Given the description of an element on the screen output the (x, y) to click on. 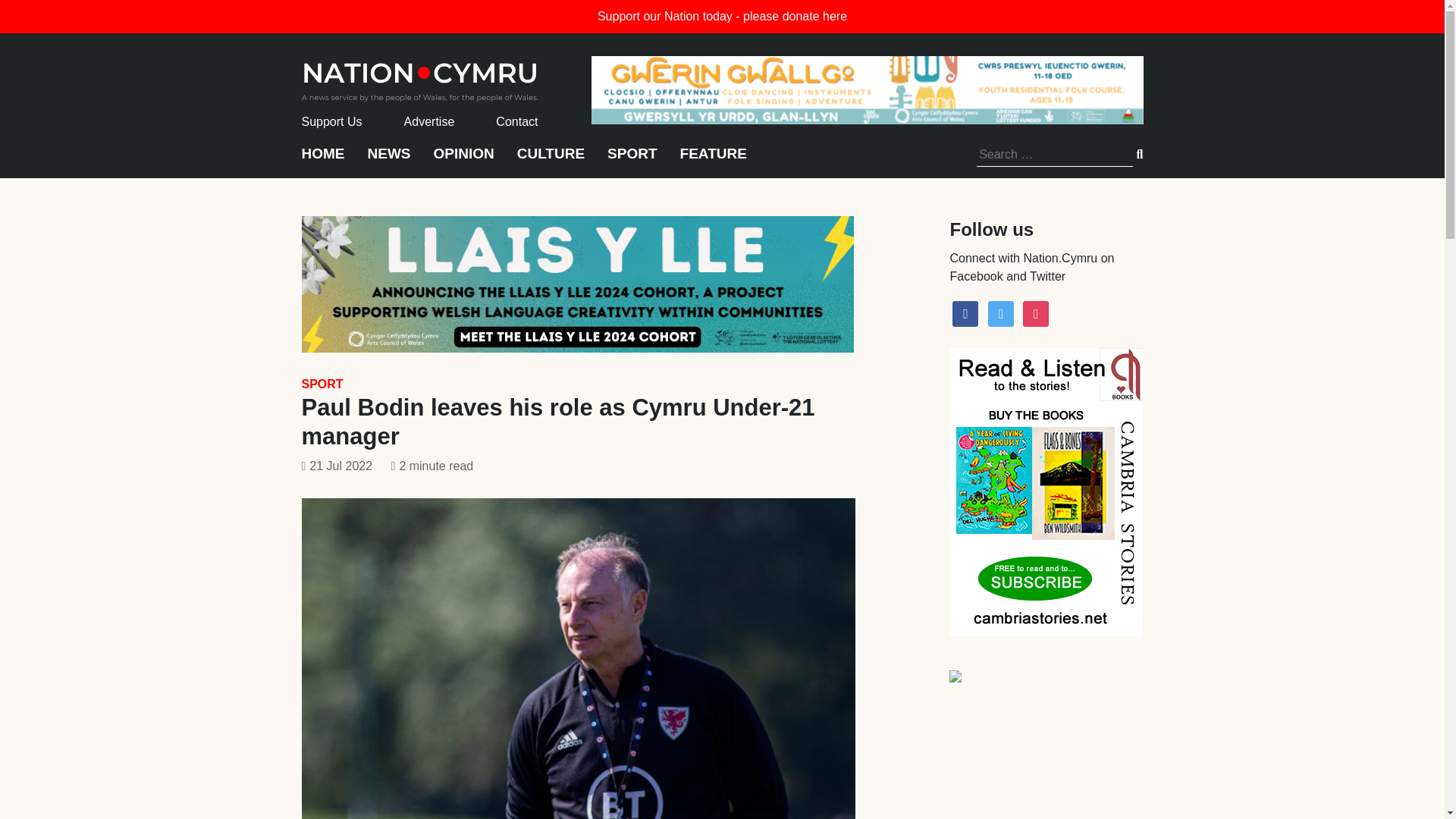
OPINION (464, 160)
Advertise (429, 121)
NEWS (388, 160)
SPORT (322, 383)
home (419, 77)
CULTURE (550, 160)
Contact (516, 121)
FEATURE (712, 160)
SPORT (631, 160)
Support Us (331, 121)
